Given the description of an element on the screen output the (x, y) to click on. 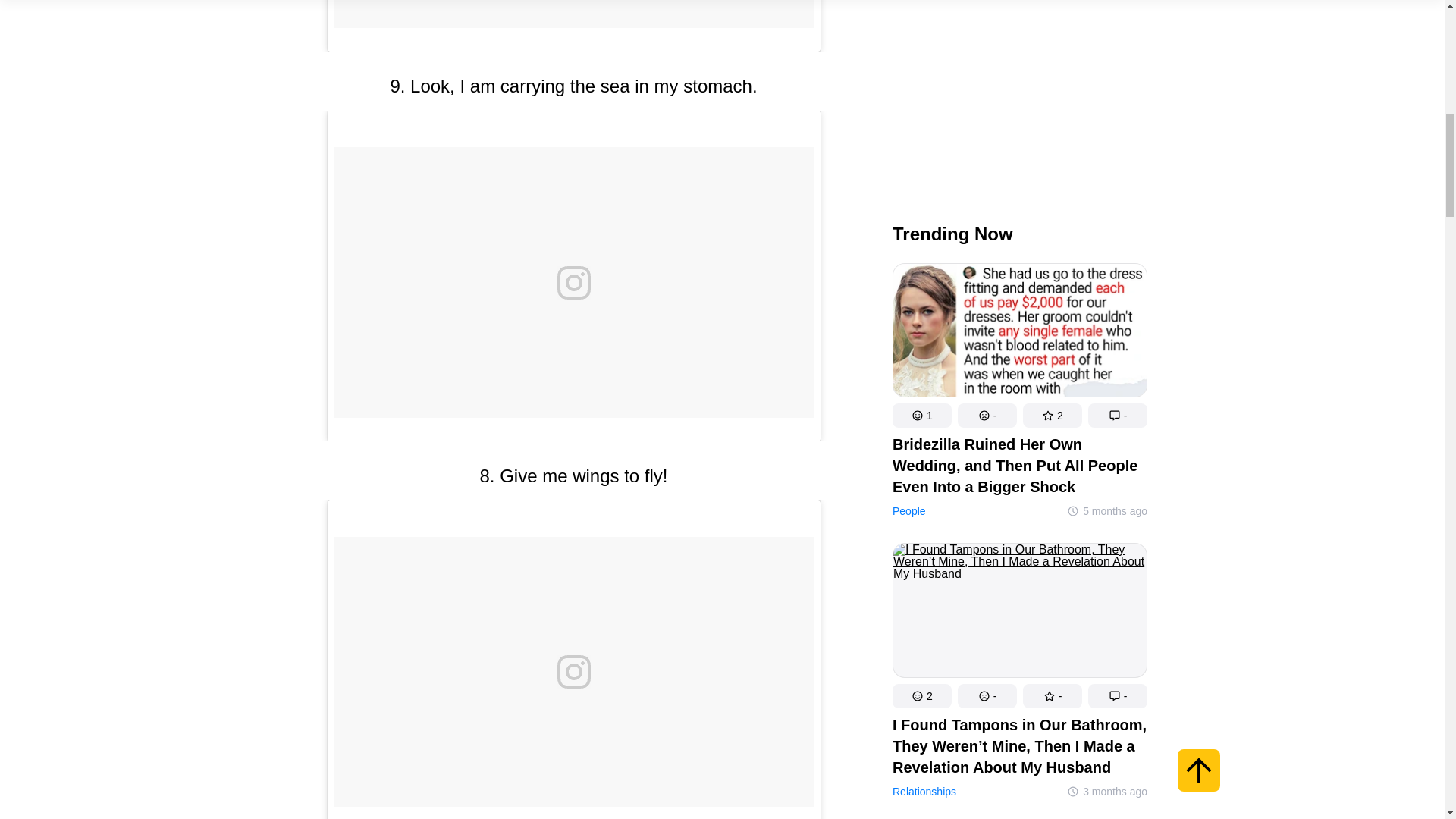
12 Eerie Memories That Still Make People Twitch in Fear (1019, 649)
- (986, 351)
- (1117, 351)
Relationships (923, 165)
Girls stuff (913, 425)
- (986, 70)
2 (920, 70)
- (1051, 70)
18 (1051, 351)
11 (920, 351)
12 Eerie Memories That Still Make People Twitch in Fear (1019, 527)
- (1117, 70)
12 Eerie Memories That Still Make People Twitch in Fear (1019, 649)
